Given the description of an element on the screen output the (x, y) to click on. 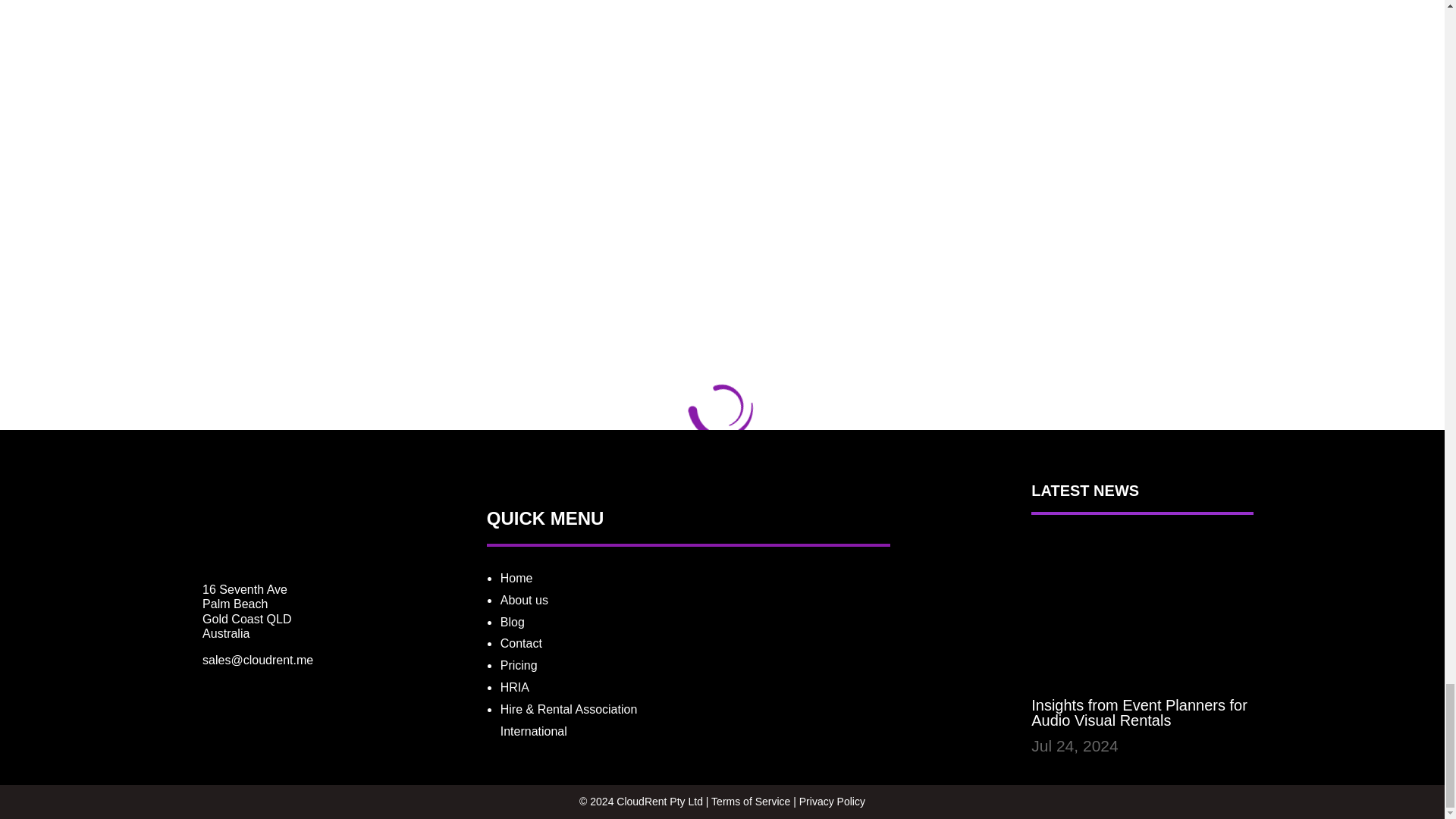
AI-Infused (783, 682)
CloudRent Logo (231, 521)
